Given the description of an element on the screen output the (x, y) to click on. 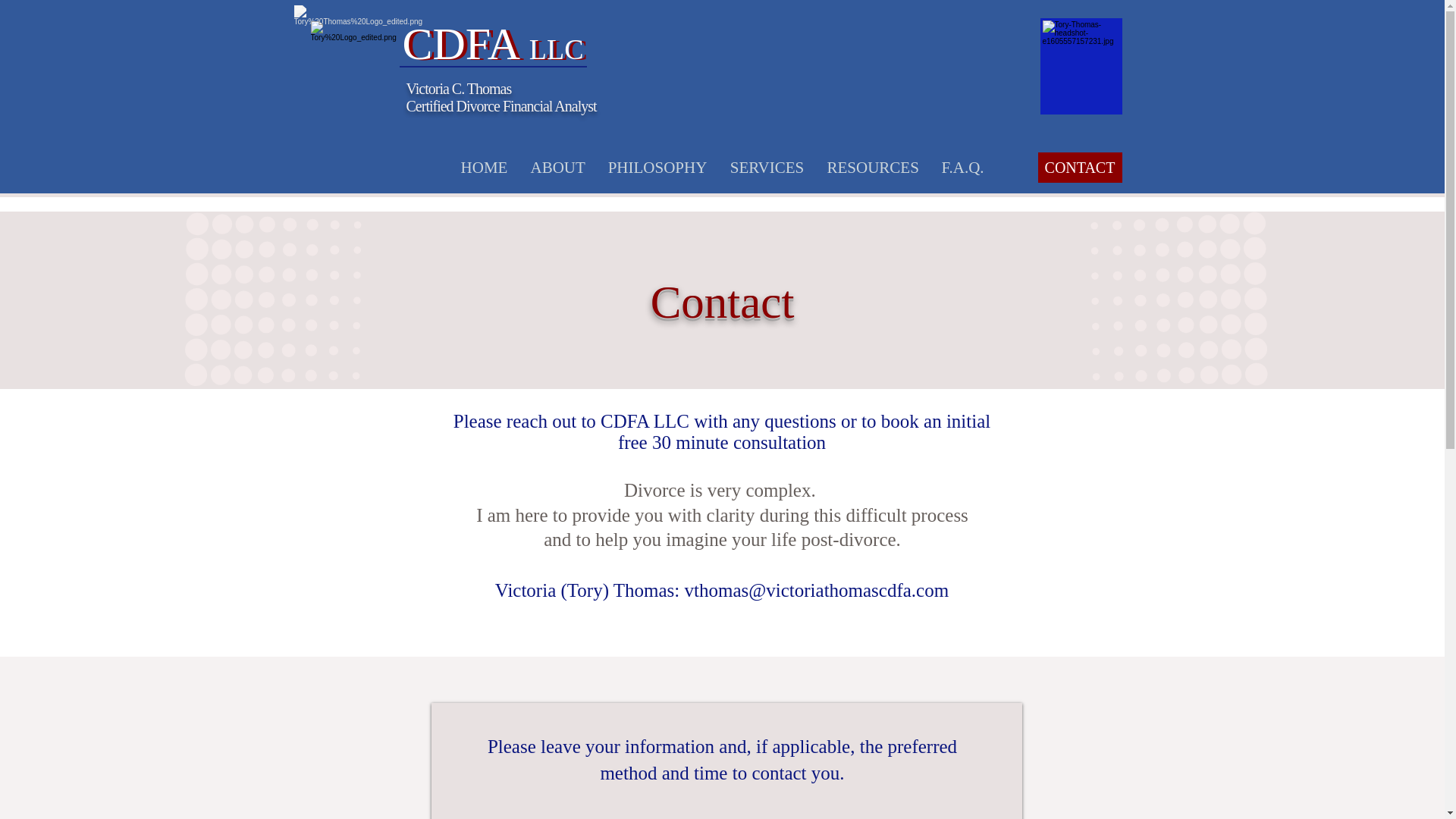
F.A.Q. (962, 167)
ABOUT (556, 167)
RESOURCES (872, 167)
CONTACT (1078, 167)
PHILOSOPHY (656, 167)
HOME (483, 167)
SERVICES (767, 167)
